Given the description of an element on the screen output the (x, y) to click on. 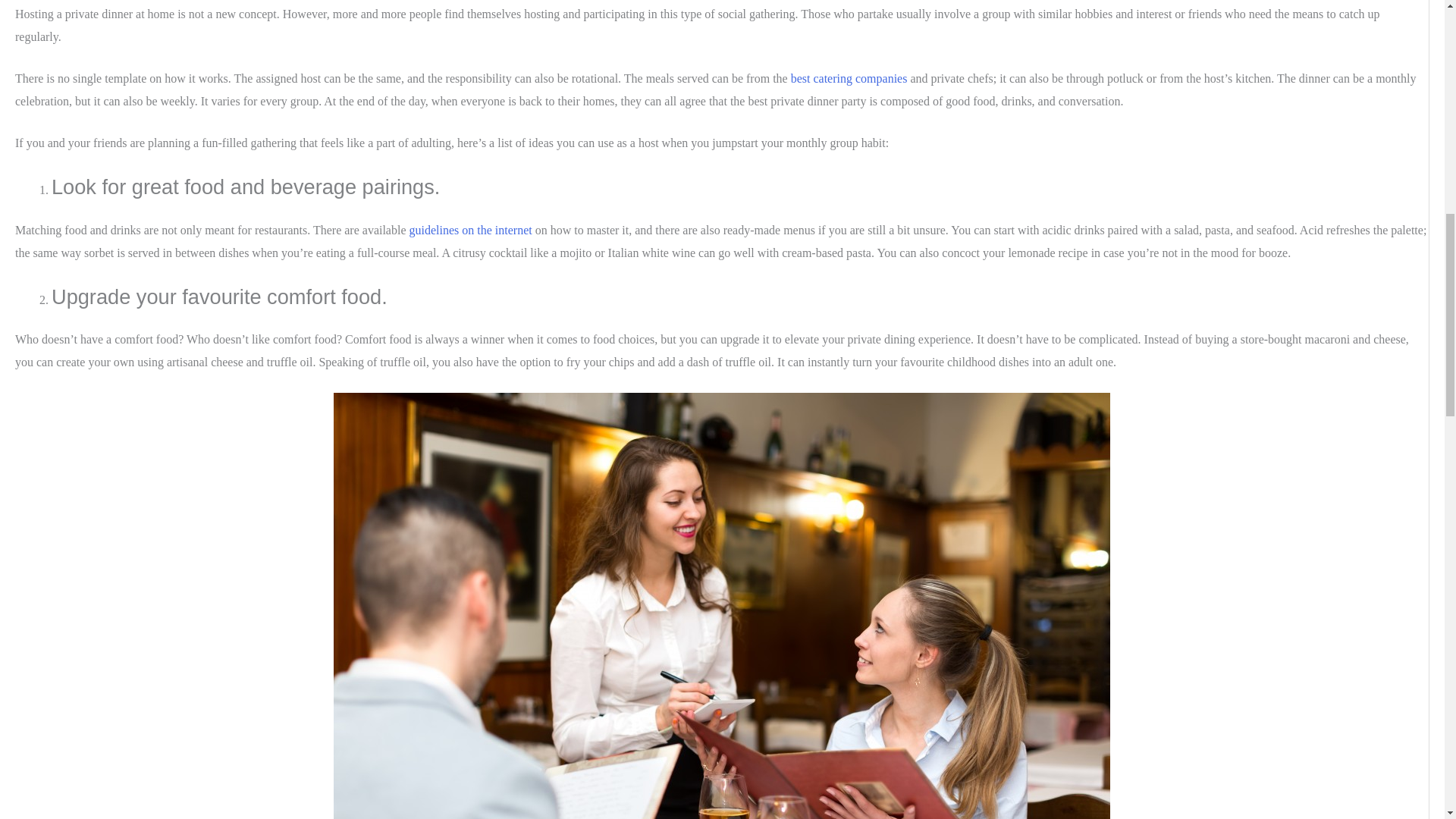
best catering companies (848, 78)
guidelines on the internet (472, 229)
Blast Catering (848, 78)
